Given the description of an element on the screen output the (x, y) to click on. 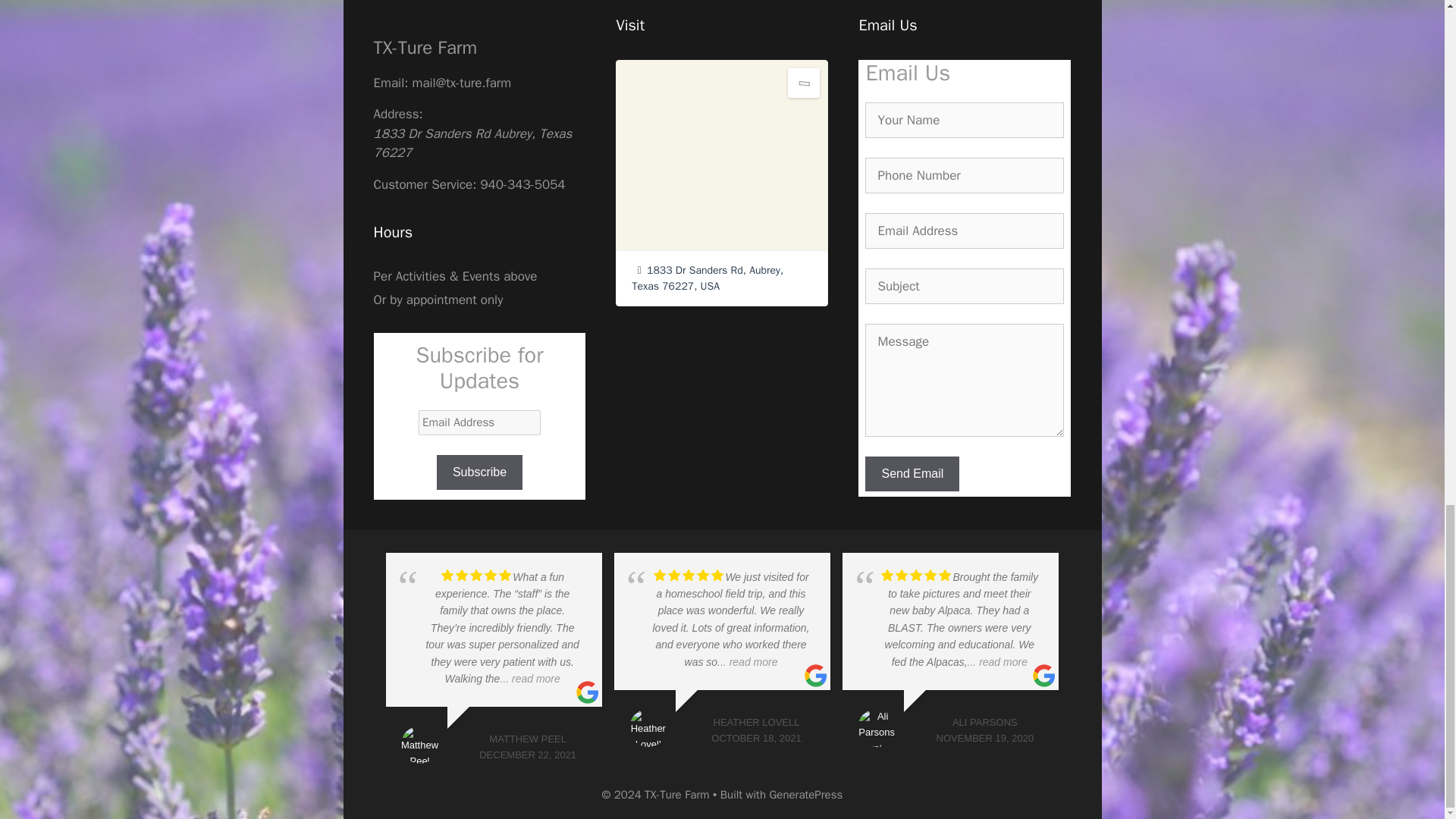
GeneratePress (805, 794)
Send Email (911, 473)
... read more (997, 662)
Scroll back to top (1406, 204)
TX-Ture Farm (424, 47)
Subscribe (479, 472)
Subscribe (479, 472)
... read more (529, 678)
940-343-5054 (522, 184)
... read more (747, 662)
1833 Dr Sanders Rd, Aubrey, Texas 76227, USA (707, 277)
